Given the description of an element on the screen output the (x, y) to click on. 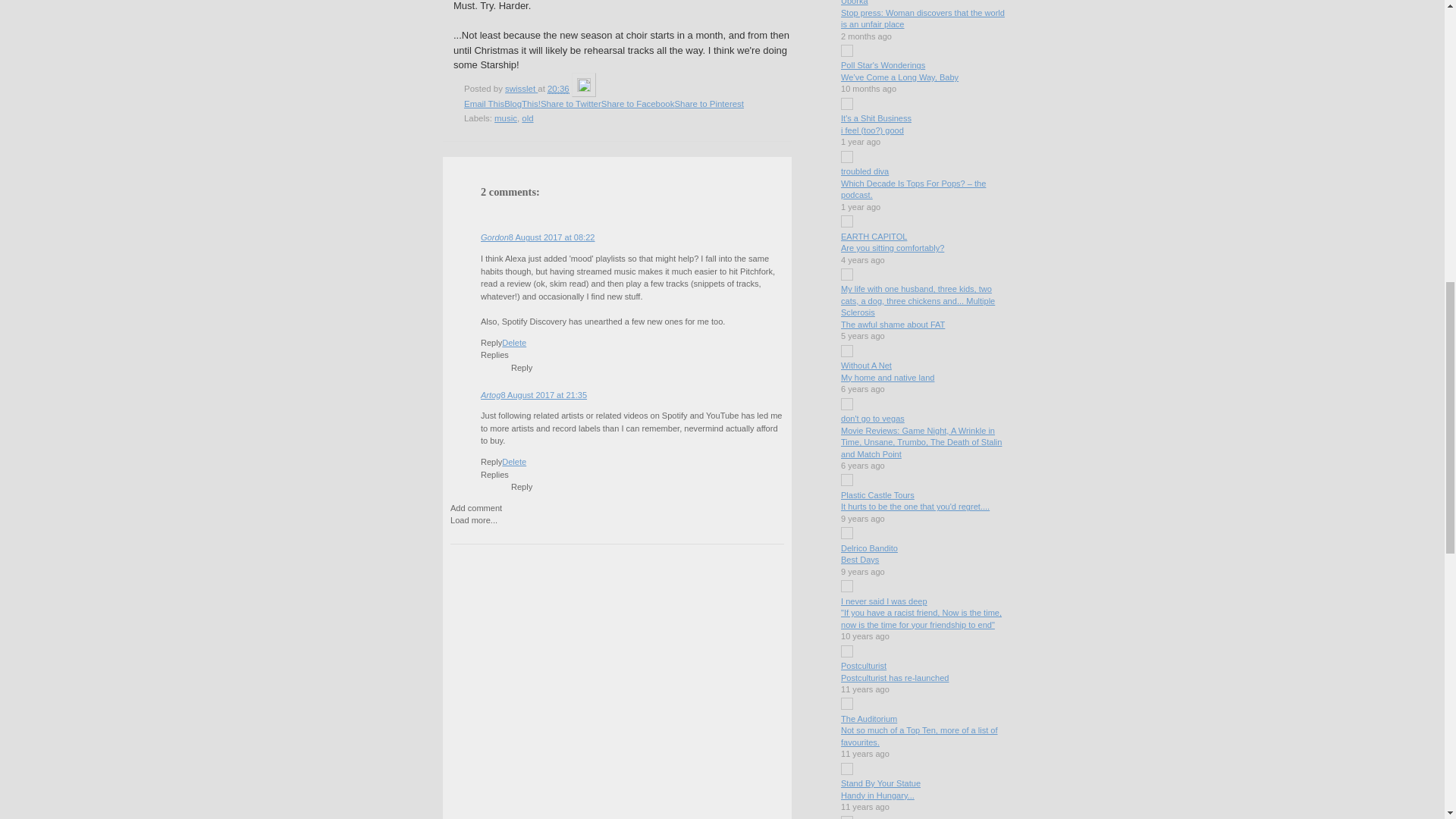
swisslet (521, 88)
BlogThis! (521, 103)
Edit Post (583, 88)
Share to Facebook (638, 103)
Reply (491, 342)
8 August 2017 at 08:22 (551, 236)
Reply (521, 367)
permanent link (558, 89)
Reply (491, 461)
Email This (483, 103)
old (526, 117)
8 August 2017 at 21:35 (543, 394)
Email This (483, 103)
Add comment (475, 507)
Share to Twitter (570, 103)
